Given the description of an element on the screen output the (x, y) to click on. 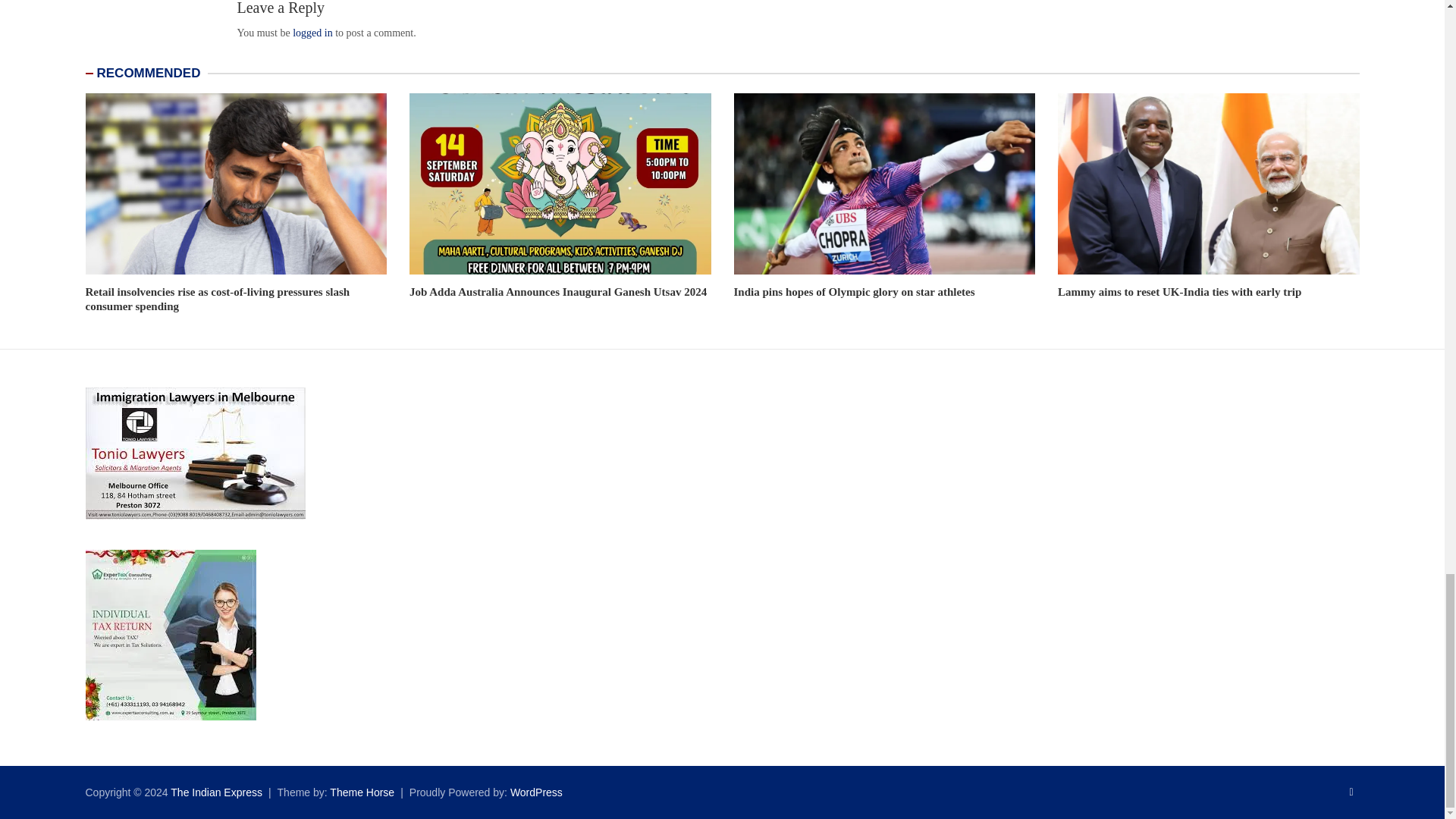
WordPress (536, 792)
The Indian Express (216, 792)
Theme Horse (362, 792)
logged in (312, 32)
